Given the description of an element on the screen output the (x, y) to click on. 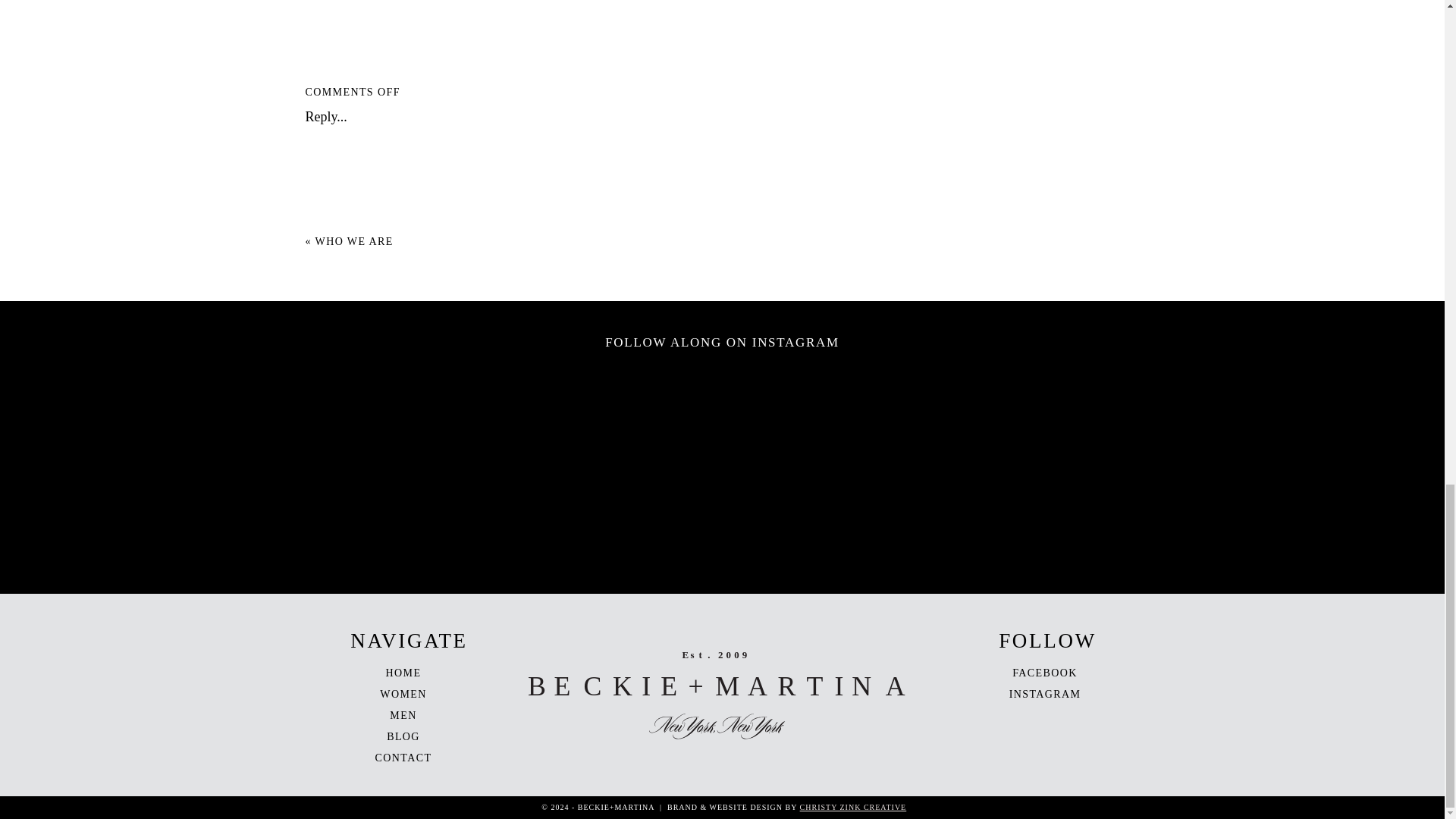
WHO WE ARE (354, 241)
MEN (403, 715)
INSTAGRAM (1045, 694)
BLOG (403, 736)
CHRISTY ZINK CREATIVE (853, 807)
FACEBOOK (1044, 672)
WOMEN (403, 694)
CONTACT (403, 757)
HOME (403, 672)
